Given the description of an element on the screen output the (x, y) to click on. 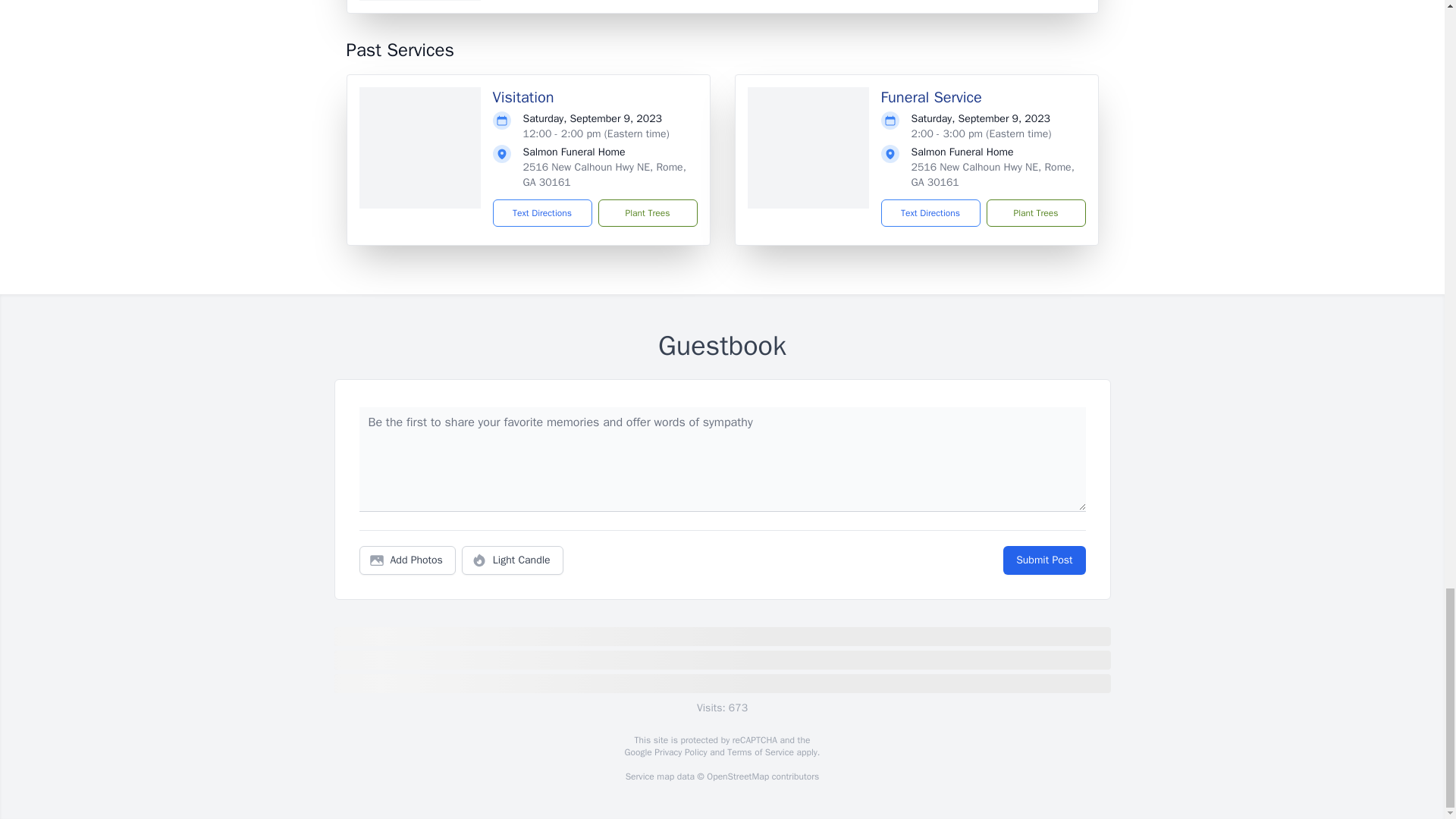
Add Photos (407, 560)
Plant Trees (1034, 212)
2516 New Calhoun Hwy NE, Rome, GA 30161 (603, 174)
Text Directions (929, 212)
Privacy Policy (679, 752)
Light Candle (512, 560)
Submit Post (1043, 560)
2516 New Calhoun Hwy NE, Rome, GA 30161 (992, 174)
Plant Trees (646, 212)
Text Directions (542, 212)
